Given the description of an element on the screen output the (x, y) to click on. 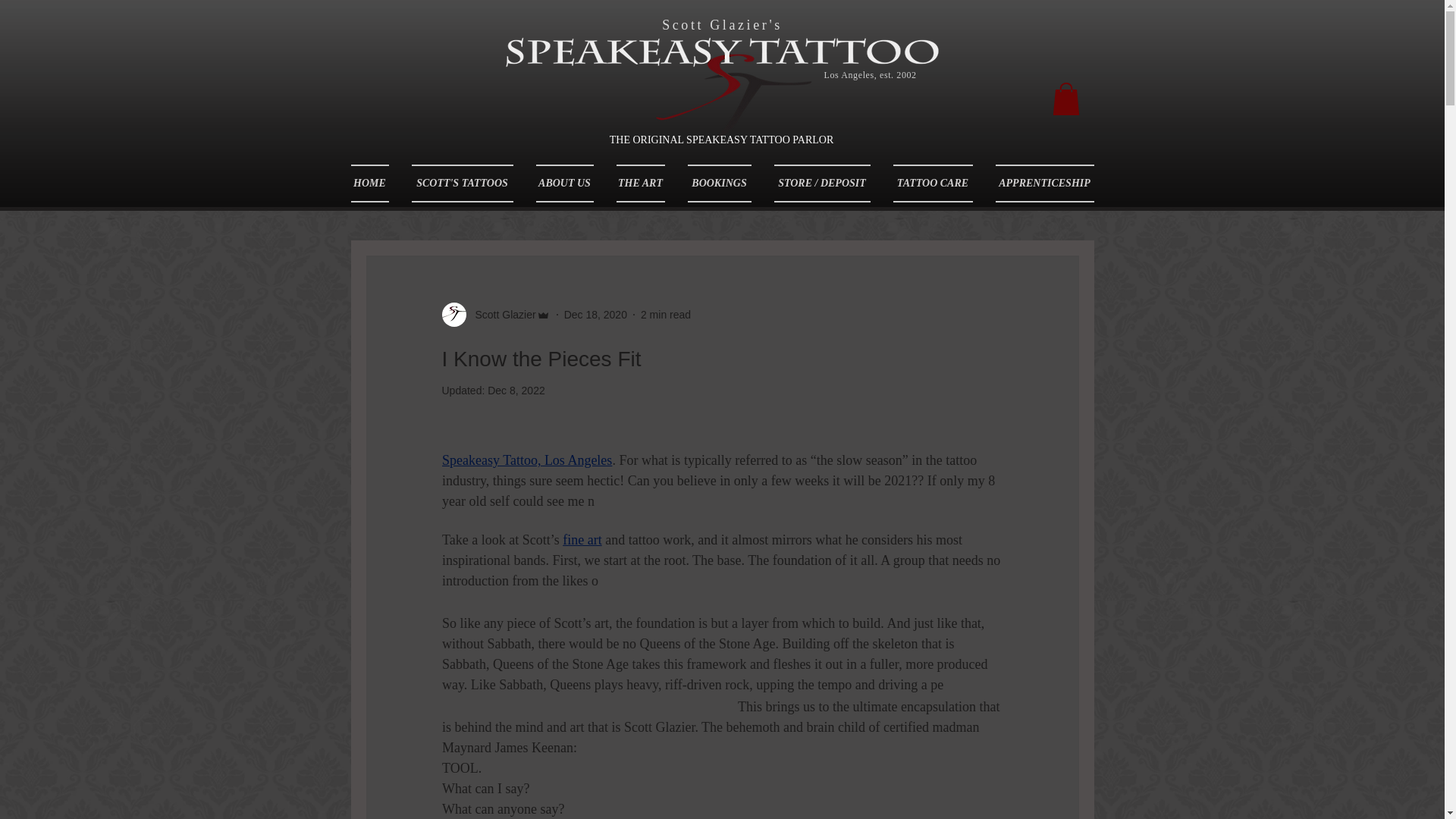
APPRENTICESHIP (1039, 183)
HOME (374, 183)
fine art (581, 539)
Dec 18, 2020 (595, 313)
TATTOO CARE (932, 183)
Dec 8, 2022 (515, 390)
ABOUT US (564, 183)
Speakeasy Tattoo, Los Angeles (526, 459)
THE ART (641, 183)
Scott Glazier (500, 314)
SCOTT'S TATTOOS (462, 183)
2 min read (665, 313)
BOOKINGS (719, 183)
